Given the description of an element on the screen output the (x, y) to click on. 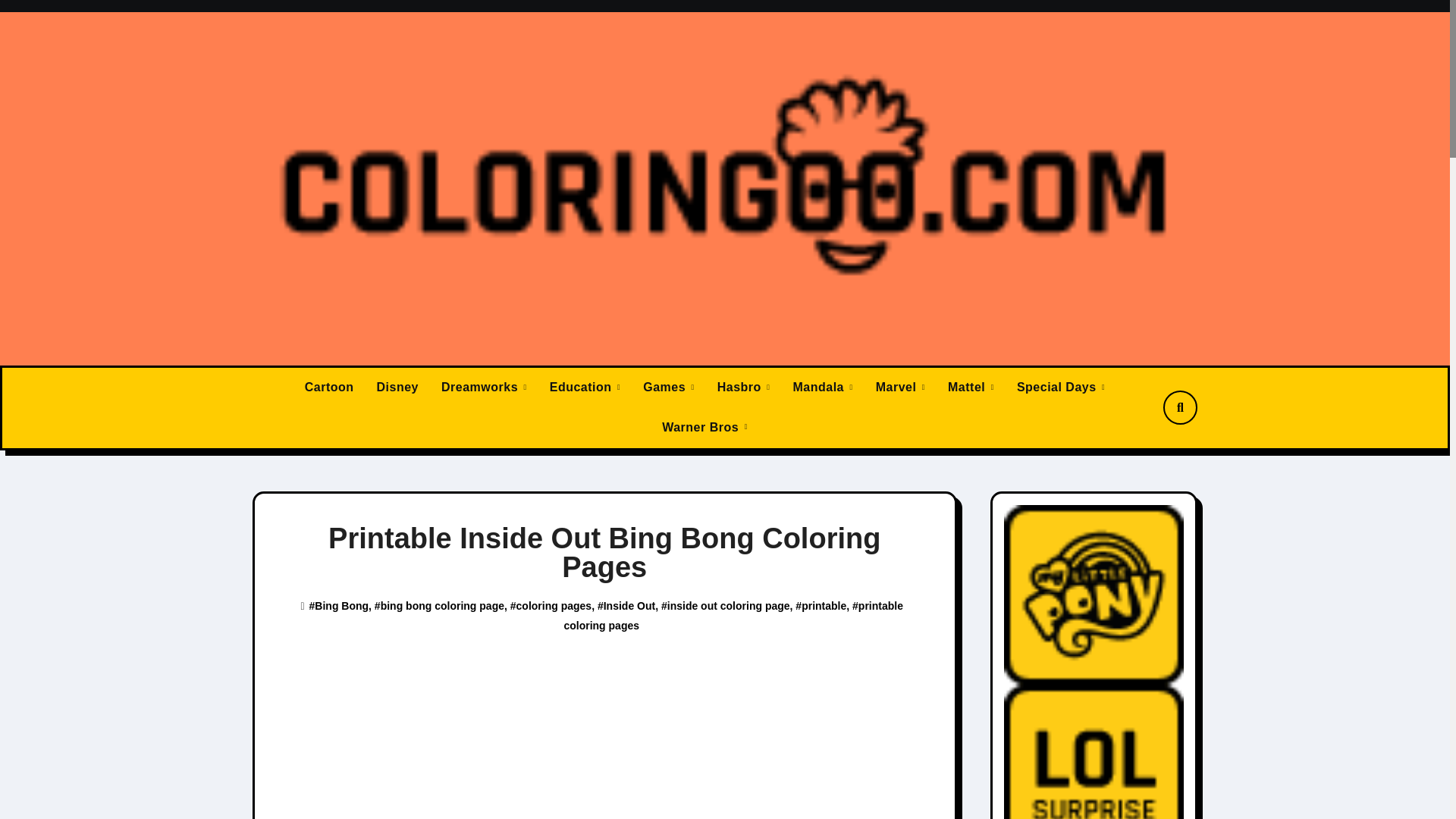
Education (584, 387)
Dreamworks (483, 387)
Disney (397, 387)
Cartoon (329, 387)
Cartoon (329, 387)
Disney (397, 387)
Education (584, 387)
Dreamworks (483, 387)
Games (668, 387)
